Given the description of an element on the screen output the (x, y) to click on. 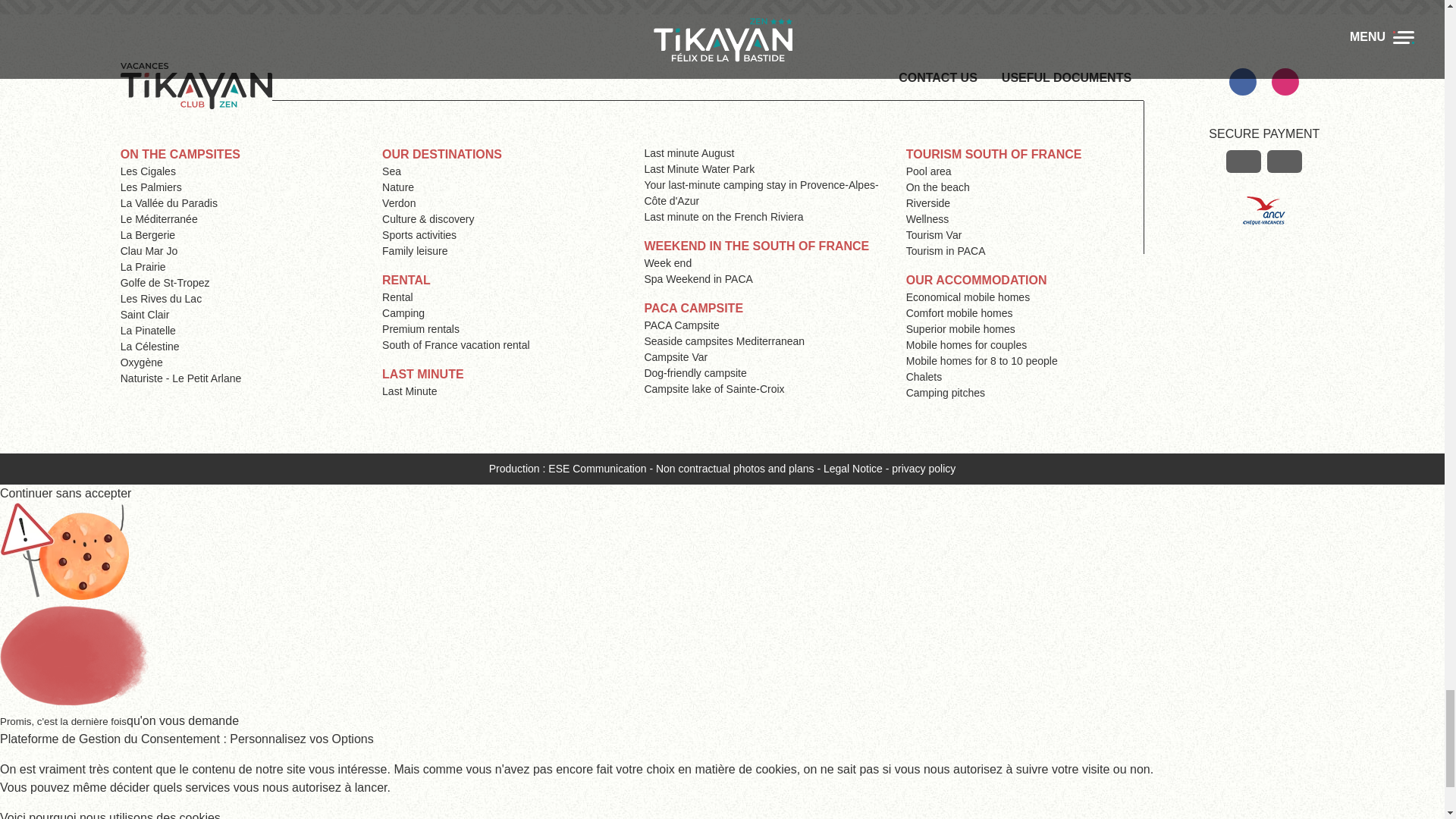
Instagram (1284, 81)
Facebook (1242, 81)
Visa (1242, 160)
MasterCard (1283, 160)
